Given the description of an element on the screen output the (x, y) to click on. 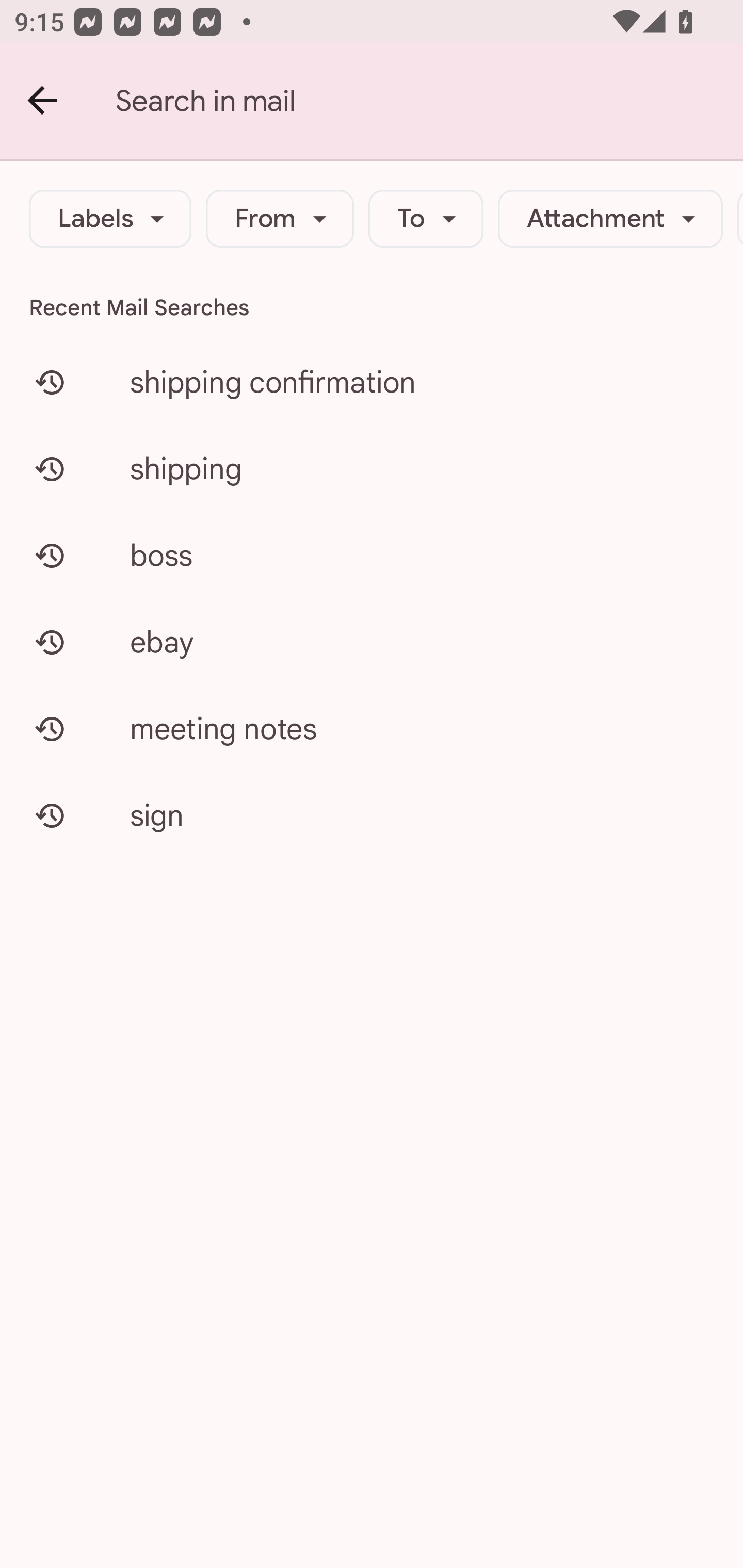
Back (43, 101)
Search in mail (429, 101)
Open navigation drawer (79, 108)
Labels (109, 218)
From (279, 218)
To (425, 218)
Attachment (609, 218)
Recent Mail Searches (371, 306)
shipping Suggestion: shipping (371, 468)
Promotions Temu, Free Gift Cards (371, 603)
ebay Suggestion: ebay (371, 641)
meeting notes Suggestion: meeting notes (371, 728)
sign Suggestion: sign (371, 815)
